Given the description of an element on the screen output the (x, y) to click on. 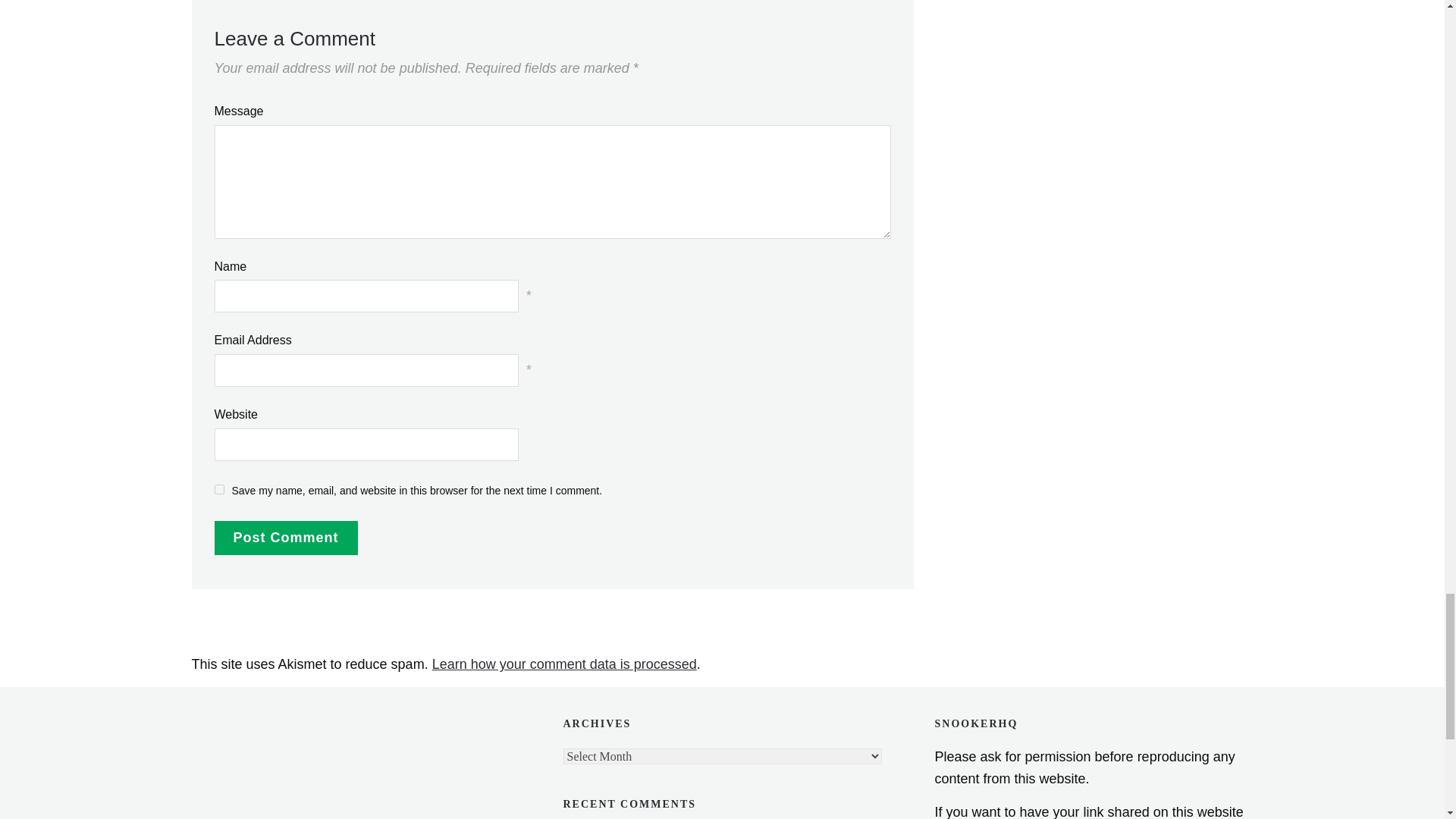
non-gamstop-betting-sites (266, 815)
nongamstopbets-sports-betting (266, 772)
ngc-uk-betting-sites-not-on-gamstop (266, 727)
Post Comment (285, 537)
yes (219, 489)
